Given the description of an element on the screen output the (x, y) to click on. 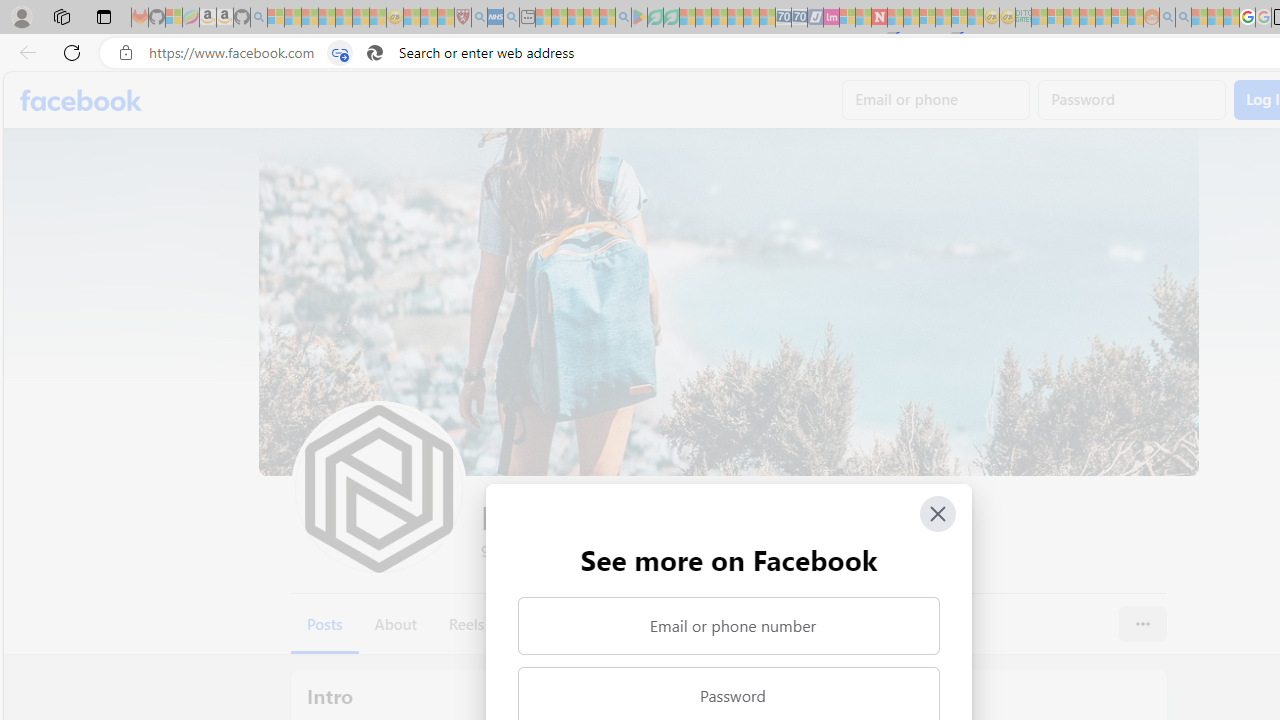
New Report Confirms 2023 Was Record Hot | Watch - Sleeping (343, 17)
14 Common Myths Debunked By Scientific Facts - Sleeping (911, 17)
The Weather Channel - MSN - Sleeping (309, 17)
Password (1132, 99)
Email or phone number (728, 625)
Pets - MSN - Sleeping (591, 17)
